Given the description of an element on the screen output the (x, y) to click on. 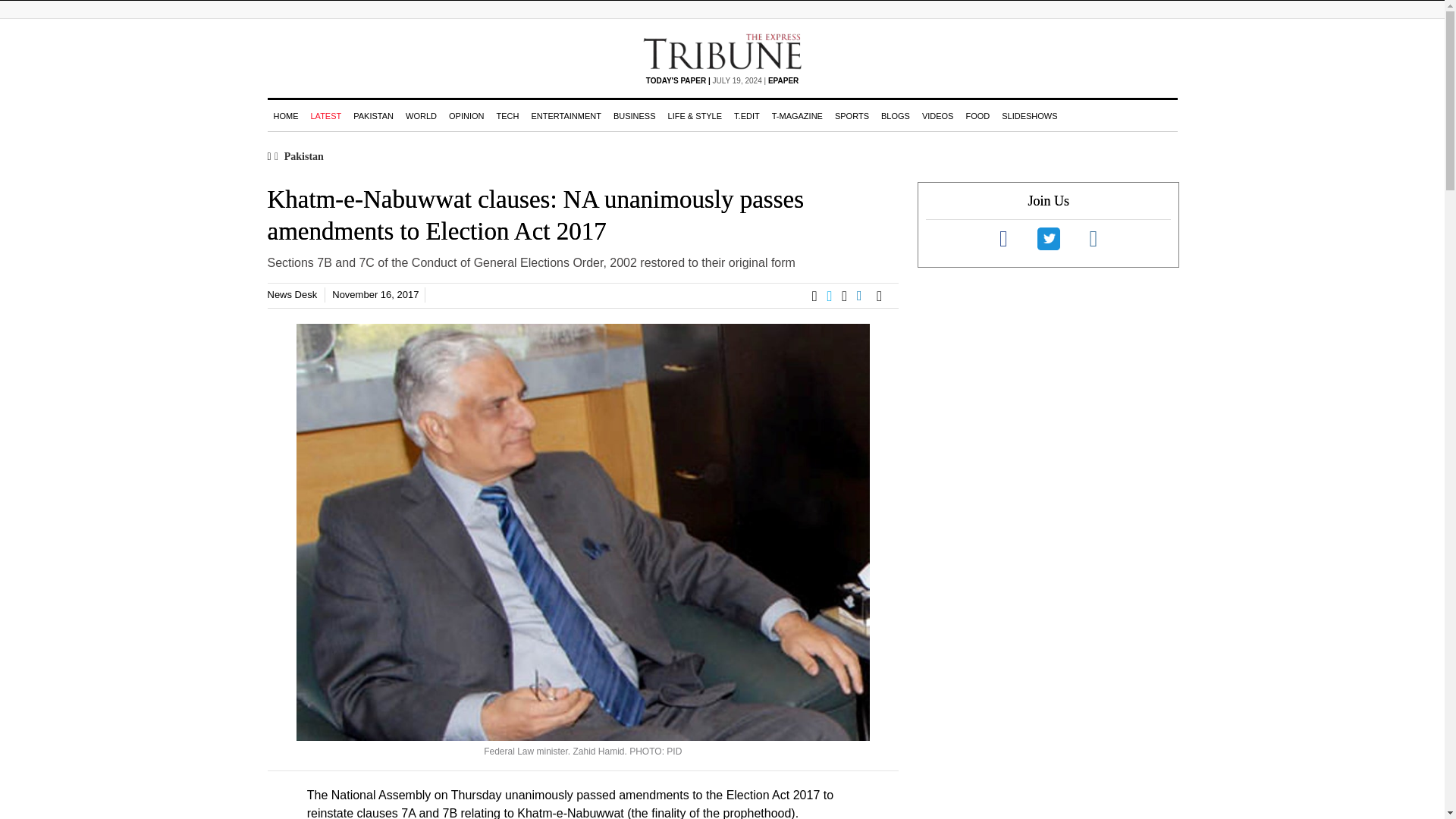
FACEBOOK (819, 296)
TECH (506, 114)
BLOGS (895, 114)
LATEST (325, 114)
T.EDIT (746, 114)
WHATSUP (849, 296)
WORLD (420, 114)
EMAIL (883, 296)
BUSINESS (634, 114)
News Desk (291, 294)
TWITTER (834, 296)
PAKISTAN (372, 114)
VIDEOS (937, 114)
FOOD (977, 114)
SLIDESHOWS (1028, 114)
